Given the description of an element on the screen output the (x, y) to click on. 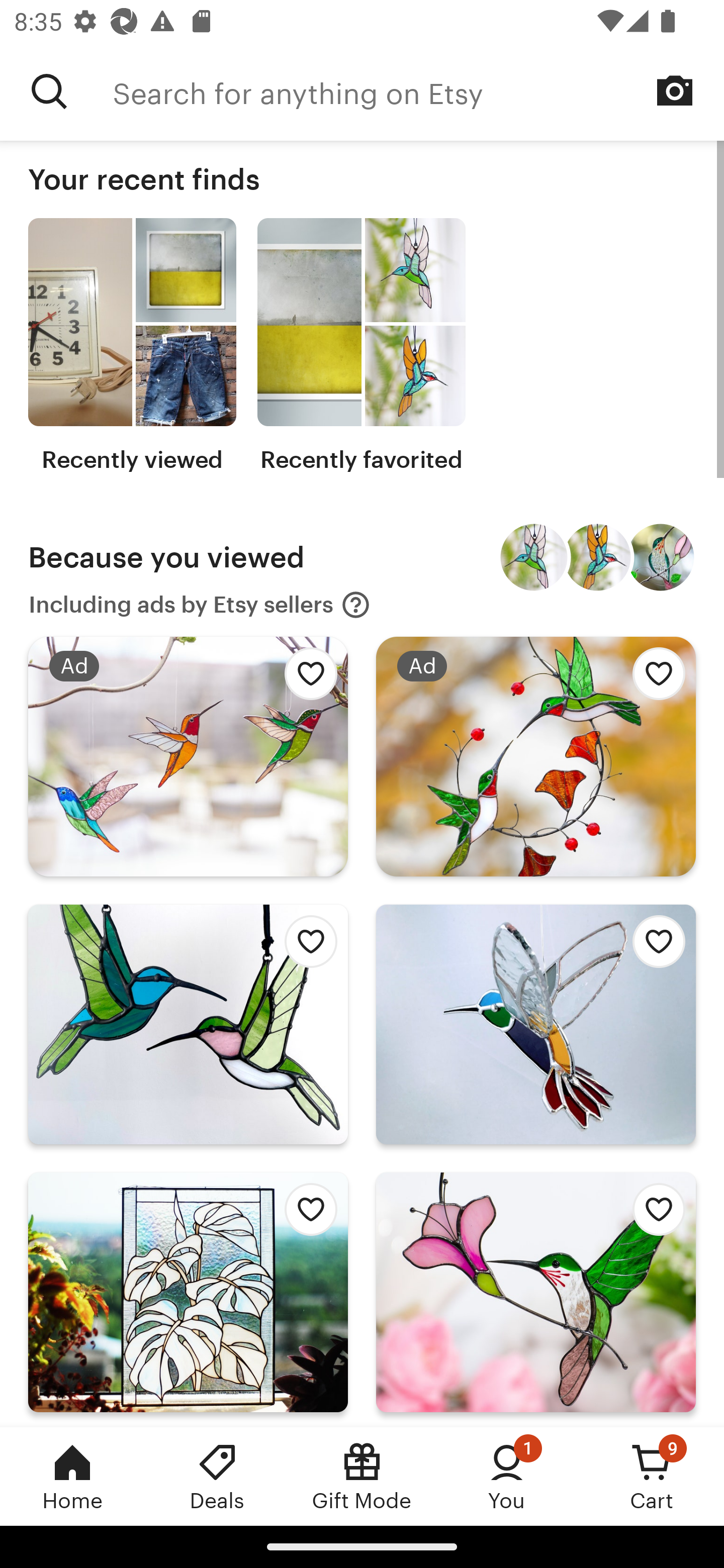
Search for anything on Etsy (49, 91)
Search by image (674, 90)
Search for anything on Etsy (418, 91)
Recently viewed (132, 345)
Recently favorited (361, 345)
Including ads by Etsy sellers (199, 604)
Deals (216, 1475)
Gift Mode (361, 1475)
You, 1 new notification You (506, 1475)
Cart, 9 new notifications Cart (651, 1475)
